Given the description of an element on the screen output the (x, y) to click on. 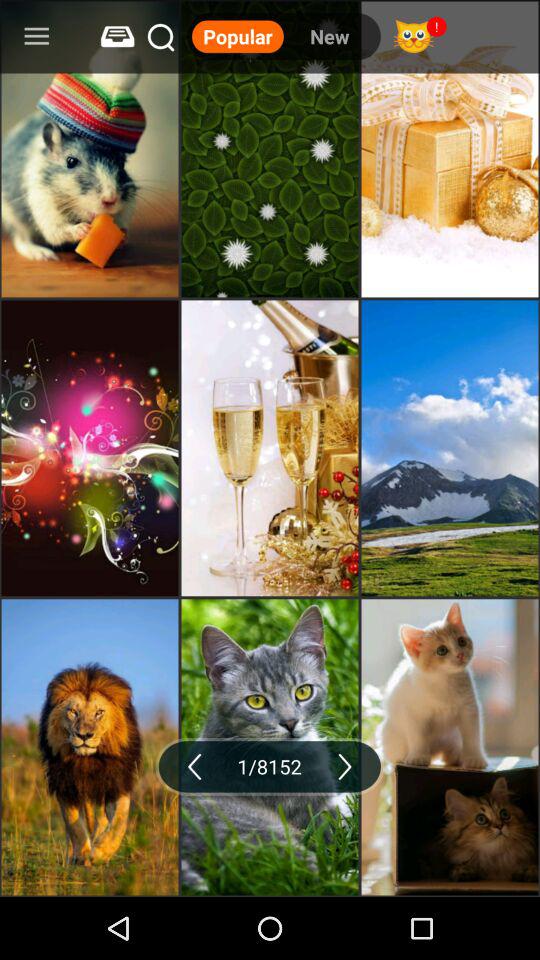
scroll until the 1/8152 item (269, 766)
